Given the description of an element on the screen output the (x, y) to click on. 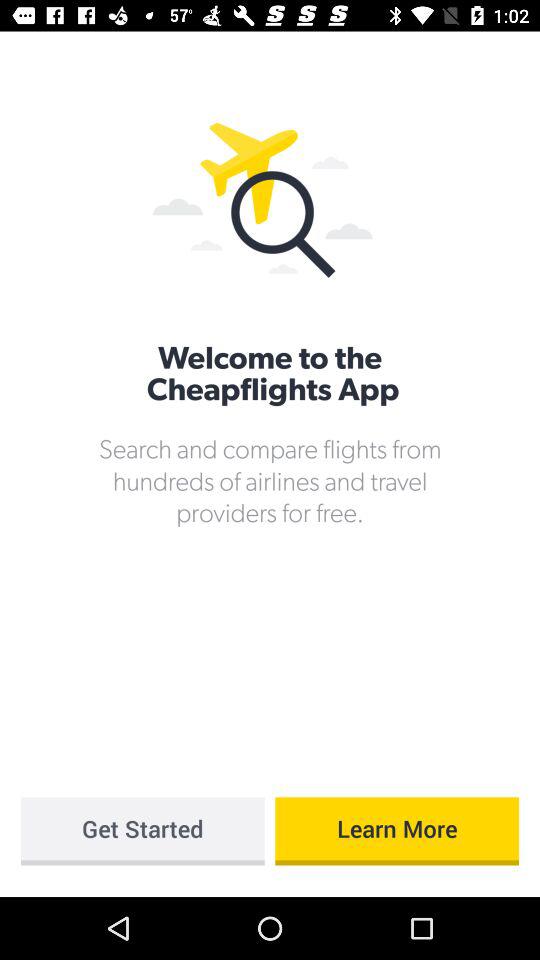
press icon below search and compare item (142, 831)
